Given the description of an element on the screen output the (x, y) to click on. 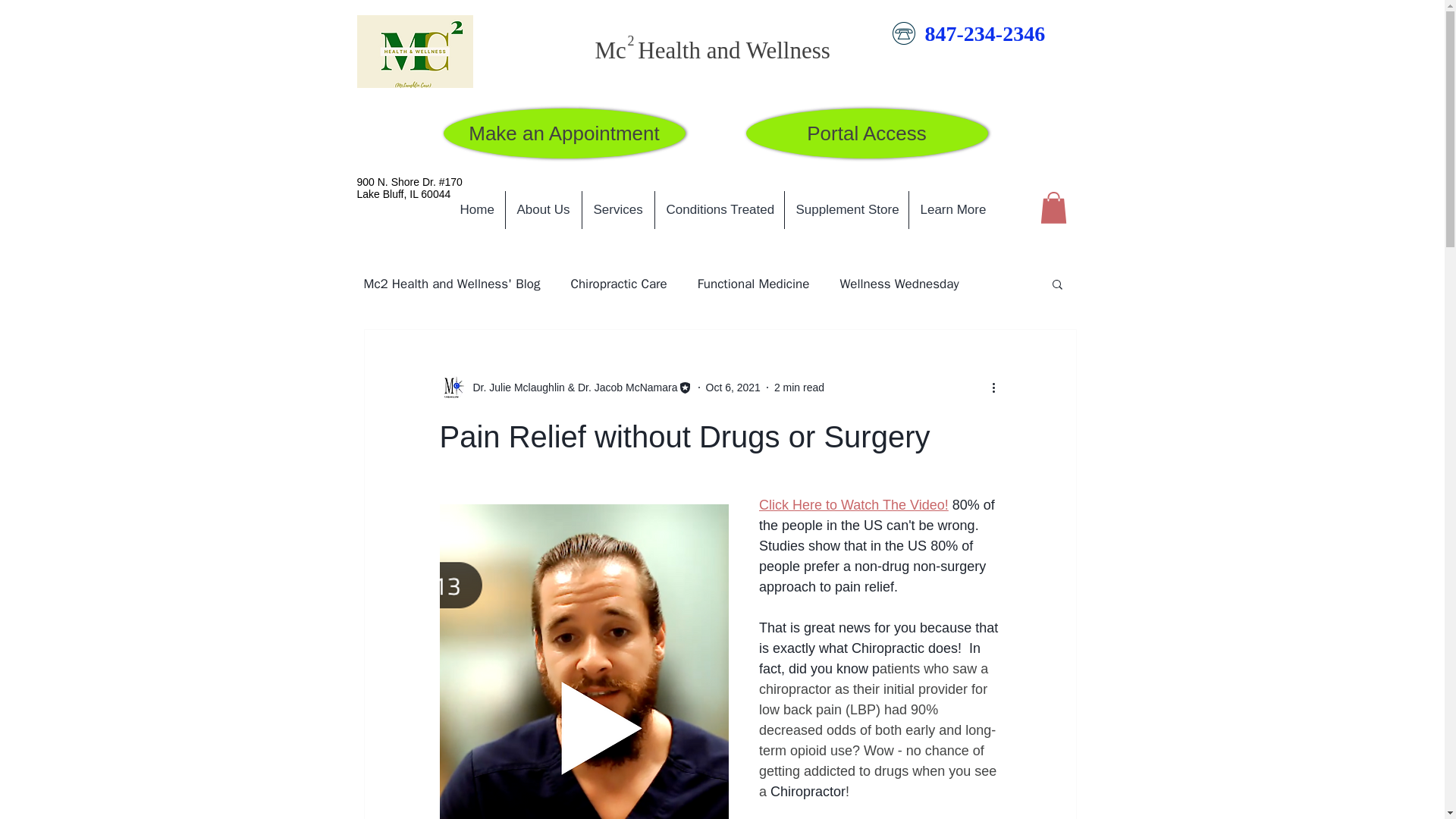
Services (617, 209)
2 min read (799, 386)
Learn More (951, 209)
Make an Appointment (563, 133)
Supplement Store (845, 209)
Portal Access (866, 133)
Oct 6, 2021 (732, 386)
About Us (542, 209)
Home (476, 209)
Conditions Treated (719, 209)
McLaughlin Care logo (413, 51)
